Given the description of an element on the screen output the (x, y) to click on. 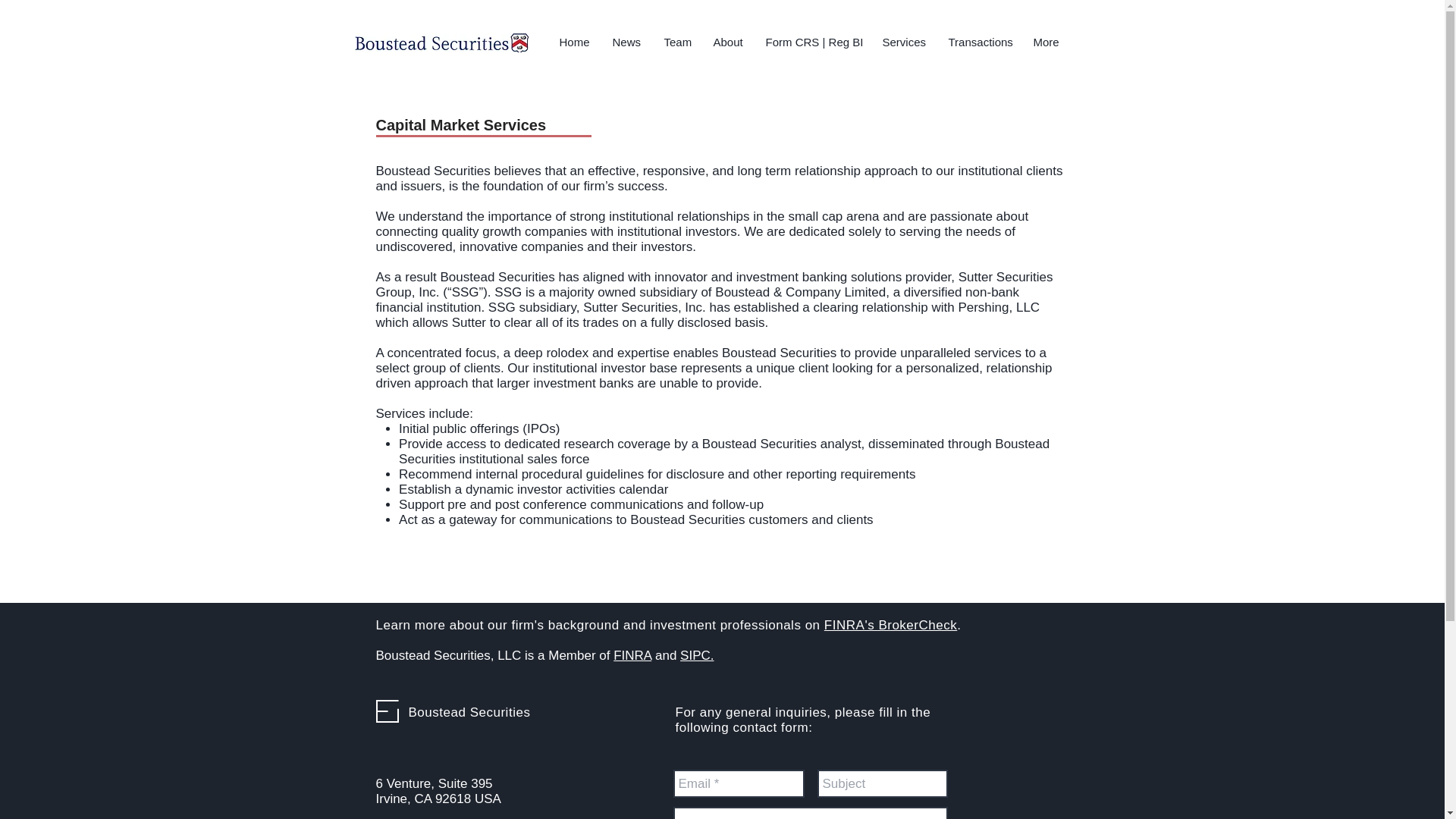
FINRA (631, 655)
Transactions (979, 42)
Home (573, 42)
Team (676, 42)
SIPC. (696, 655)
FINRA's BrokerCheck (890, 625)
Boustead Securities (468, 712)
News (625, 42)
About (727, 42)
